Given the description of an element on the screen output the (x, y) to click on. 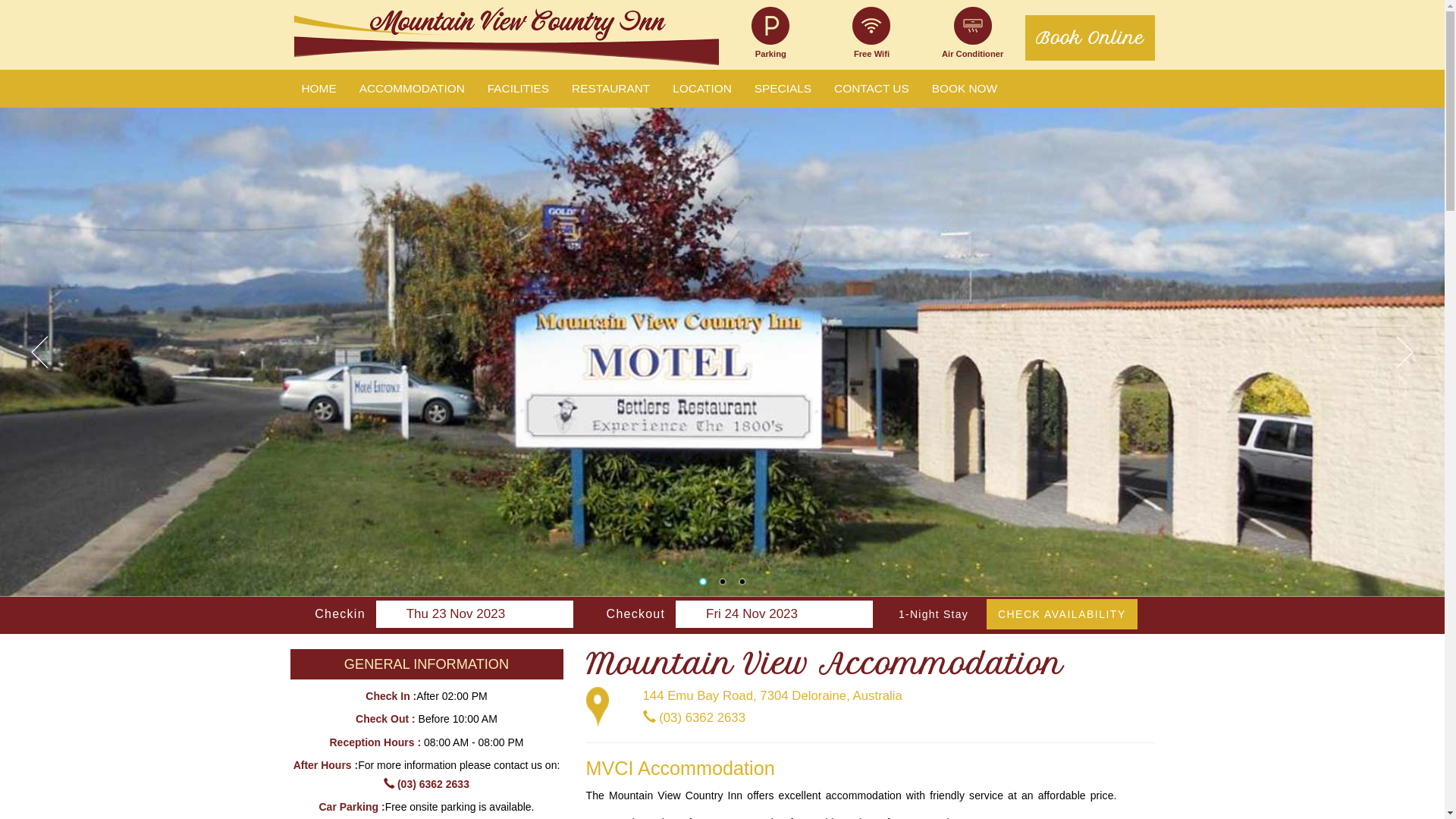
RESTAURANT Element type: text (610, 88)
CHECK AVAILABILITY Element type: text (1061, 614)
Free! Wifi Element type: hover (871, 25)
Air Conditioner Element type: hover (972, 25)
LOCATION Element type: text (702, 88)
Book Online Element type: text (1089, 37)
BOOK NOW Element type: text (964, 88)
Free! Parking Element type: hover (770, 25)
CONTACT US Element type: text (871, 88)
HOME Element type: text (318, 88)
SPECIALS Element type: text (782, 88)
ACCOMMODATION Element type: text (412, 88)
FACILITIES Element type: text (518, 88)
Mountain View Country Inn Element type: hover (506, 37)
